Given the description of an element on the screen output the (x, y) to click on. 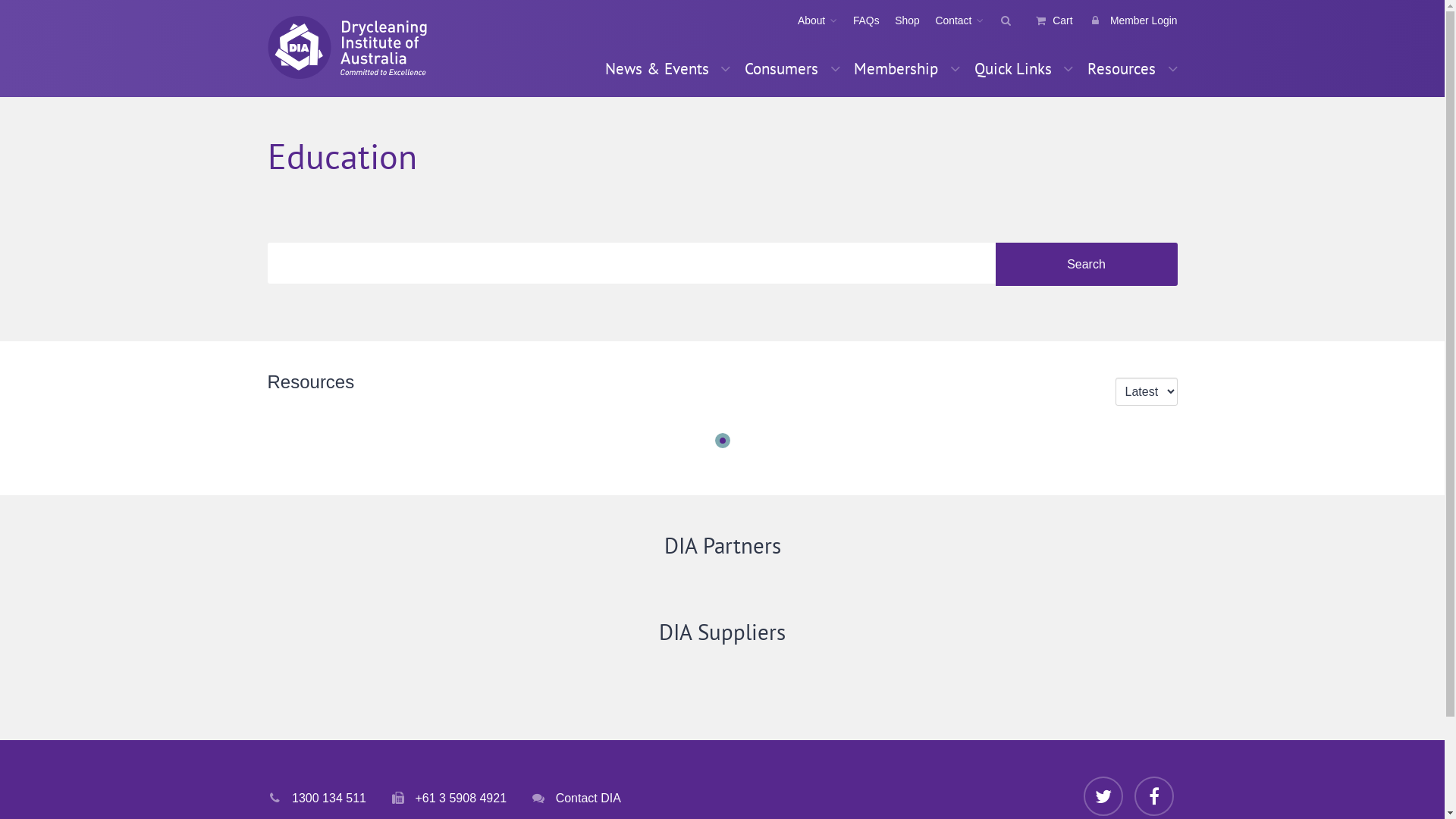
Contact Element type: text (951, 20)
Member Login Element type: text (1124, 20)
Cart Element type: text (1045, 20)
+61 3 5908 4921 Element type: text (448, 797)
Enter the terms you wish to search for. Element type: hover (630, 262)
News & Events Element type: text (667, 68)
Search Element type: text (1085, 264)
FAQs Element type: text (857, 20)
Consumers Element type: text (792, 68)
Shop Element type: text (899, 20)
Membership Element type: text (906, 68)
Resources Element type: text (1128, 68)
About Element type: text (809, 20)
Quick Links Element type: text (1022, 68)
1300 134 511 Element type: text (315, 797)
Contact DIA Element type: text (575, 797)
